Given the description of an element on the screen output the (x, y) to click on. 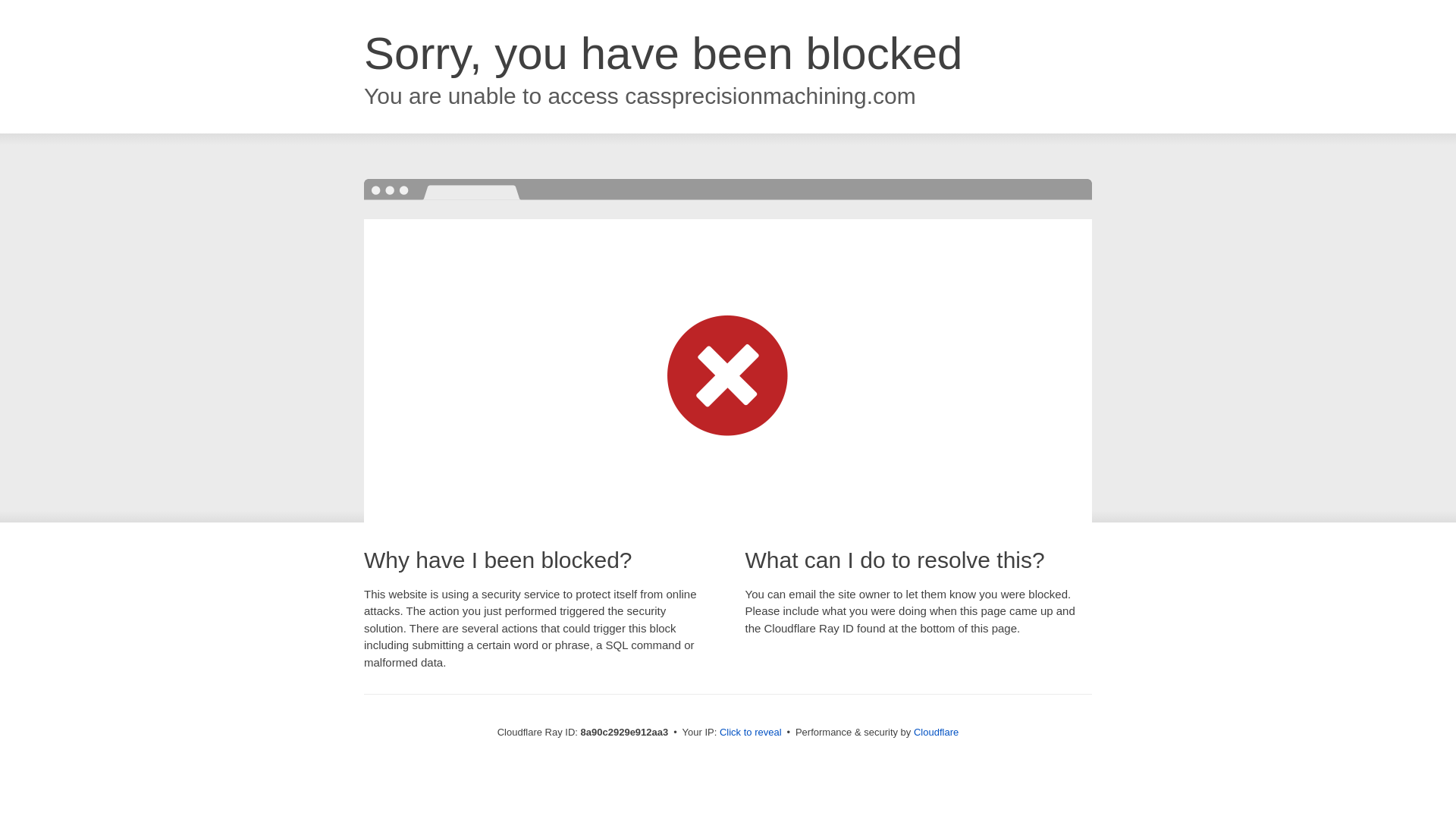
Cloudflare (936, 731)
Click to reveal (750, 732)
